Given the description of an element on the screen output the (x, y) to click on. 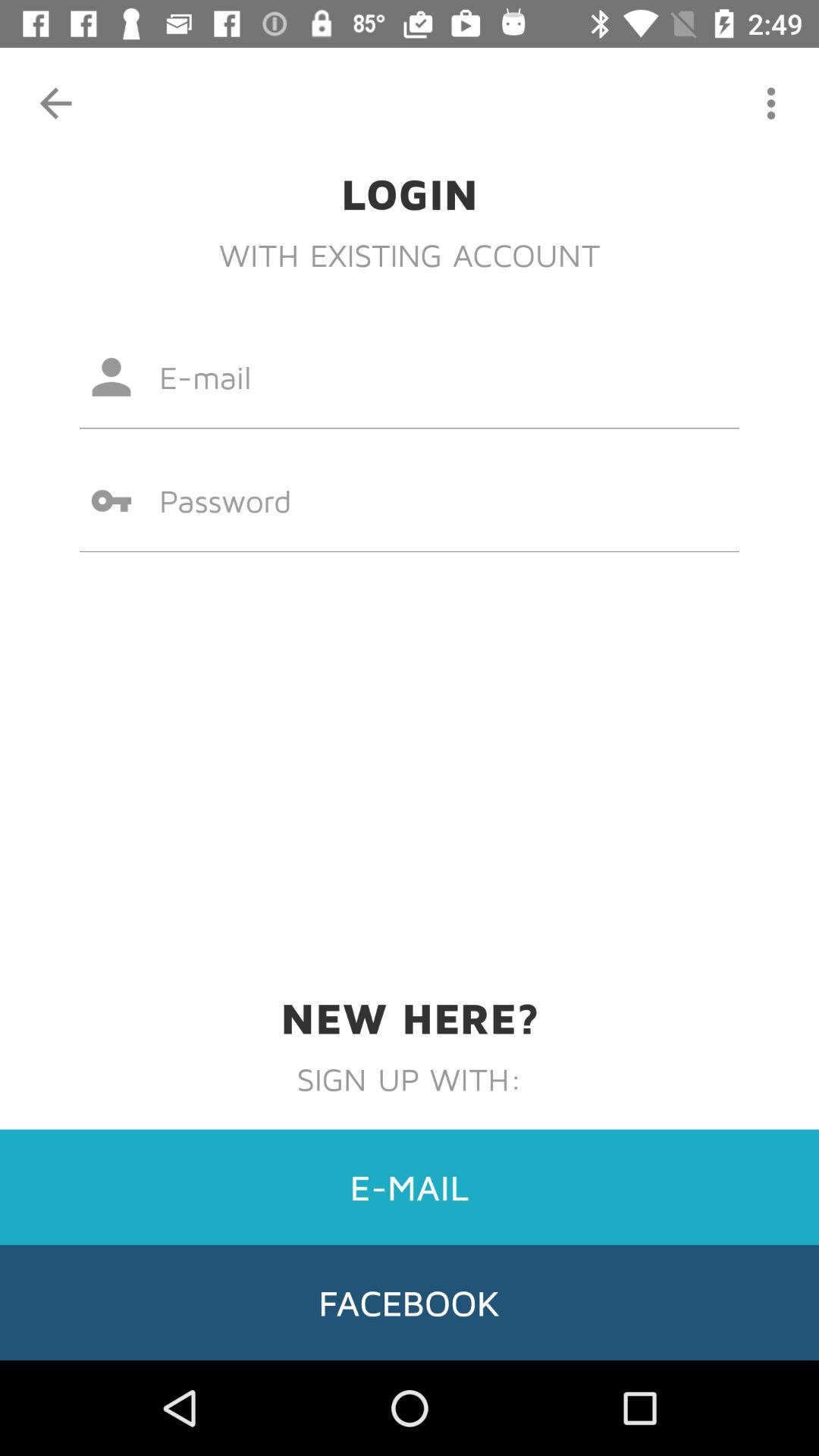
open the item above new here? icon (409, 500)
